Given the description of an element on the screen output the (x, y) to click on. 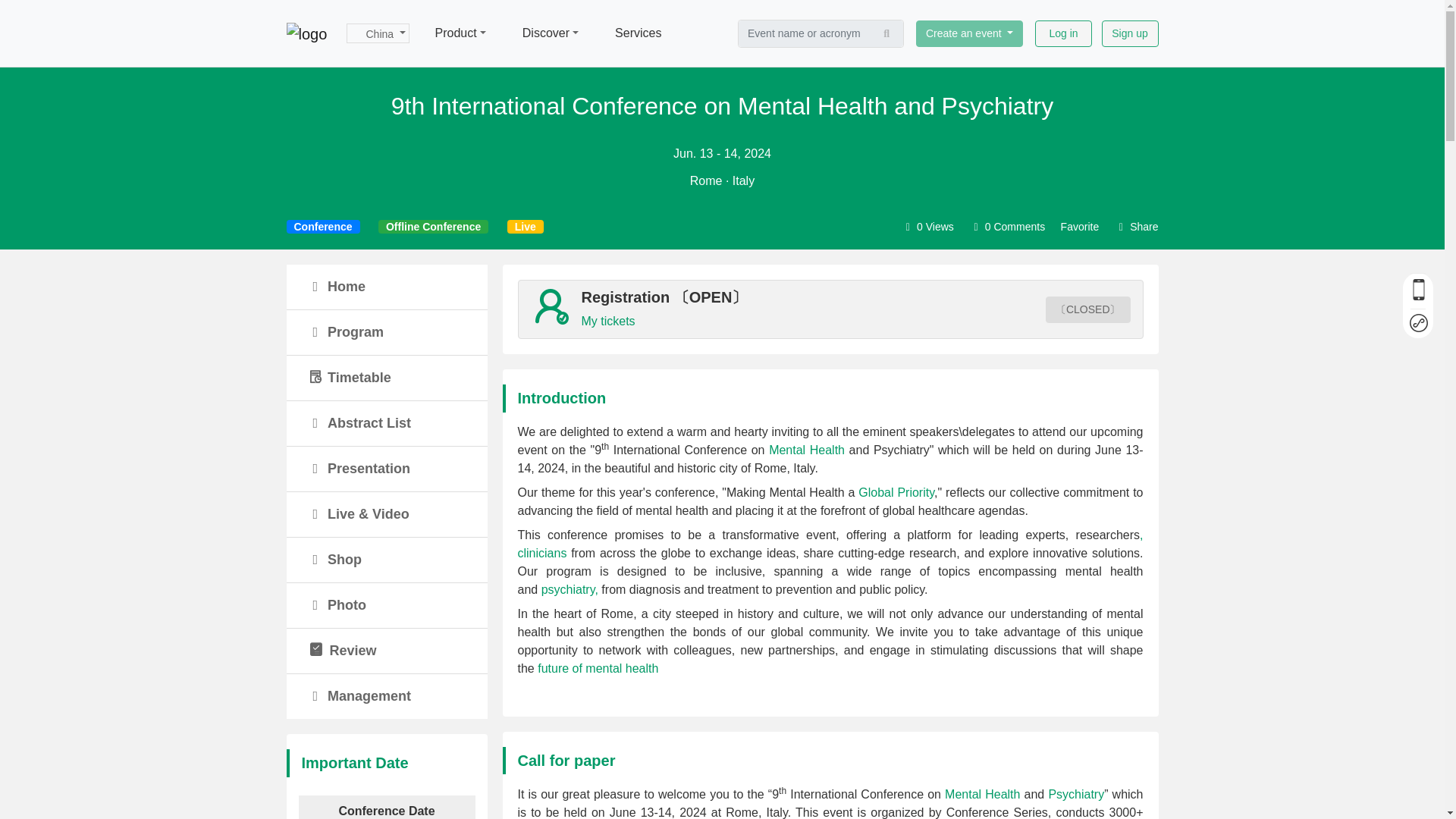
China (377, 32)
